Given the description of an element on the screen output the (x, y) to click on. 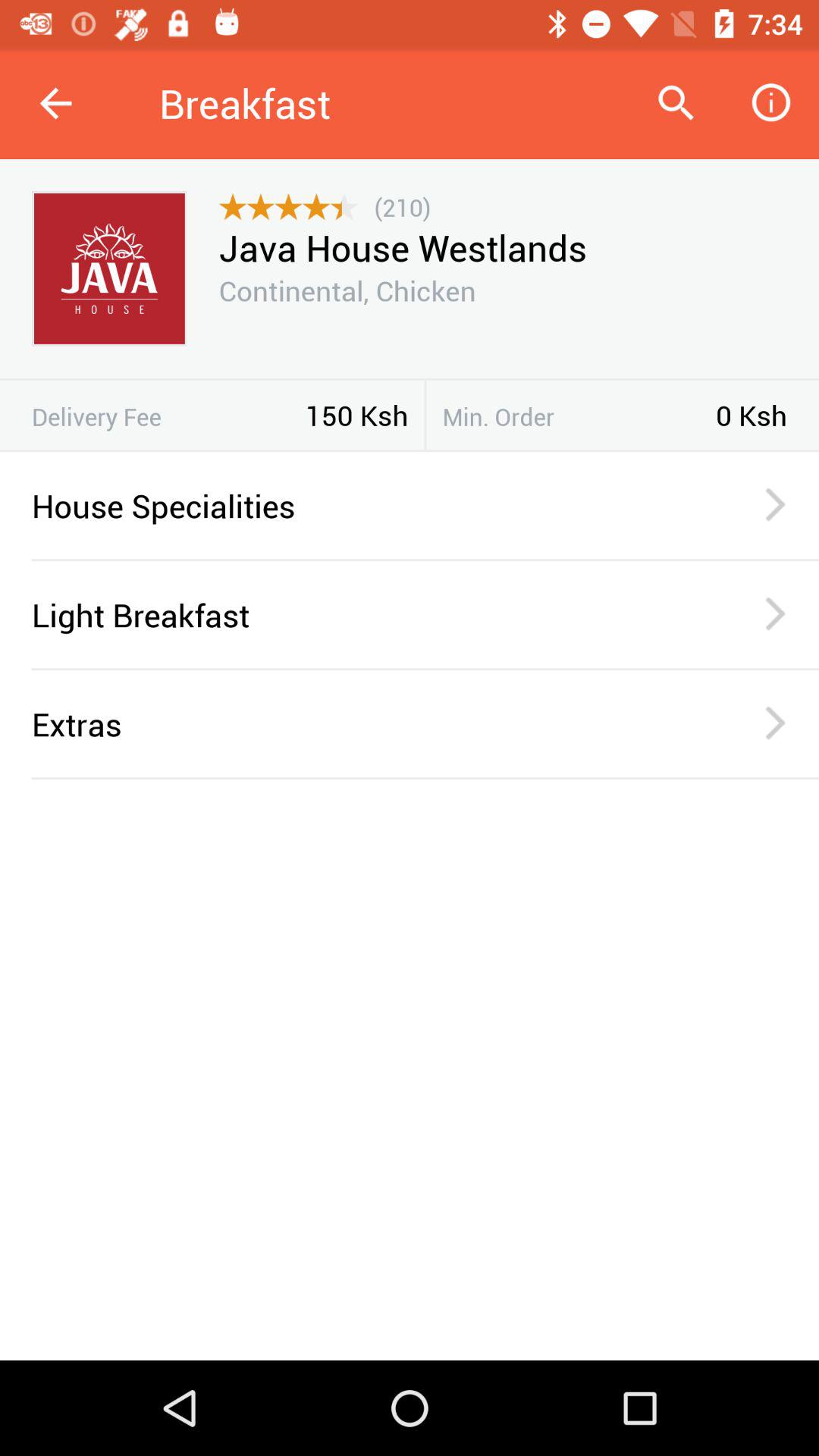
open the item below the java house westlands (347, 290)
